Given the description of an element on the screen output the (x, y) to click on. 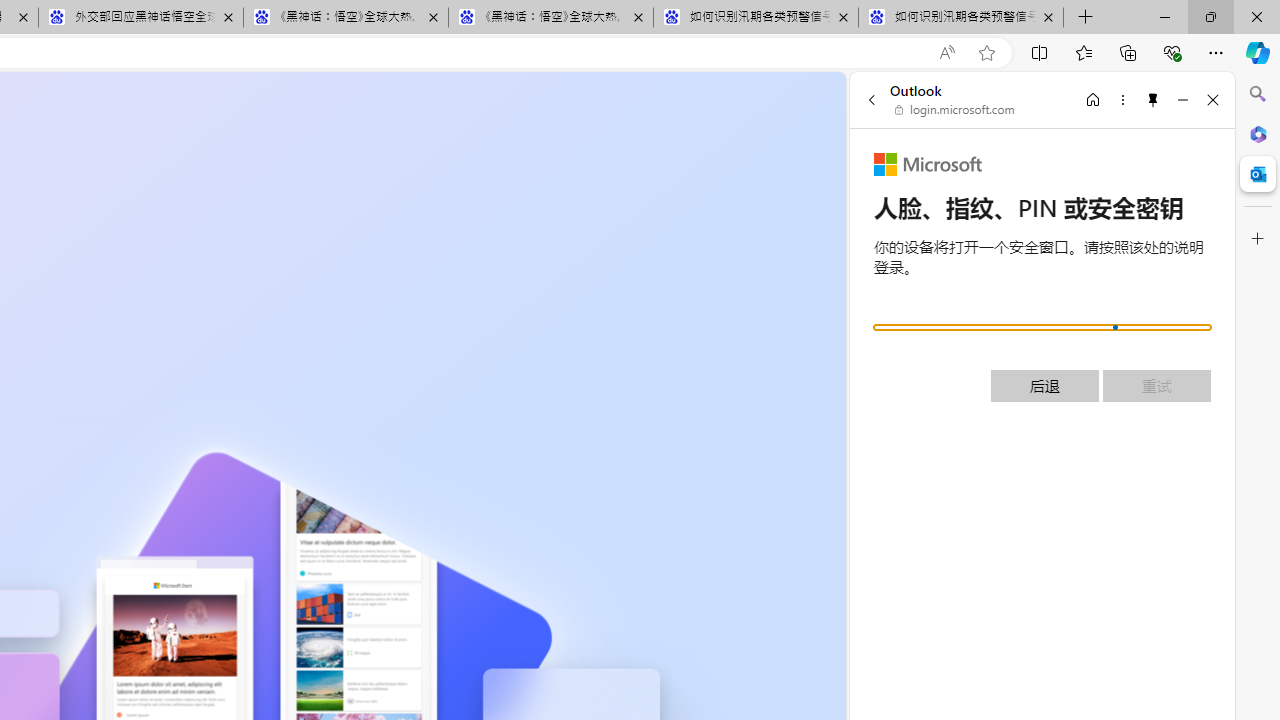
Unpin side pane (1153, 99)
Microsoft (927, 164)
